Given the description of an element on the screen output the (x, y) to click on. 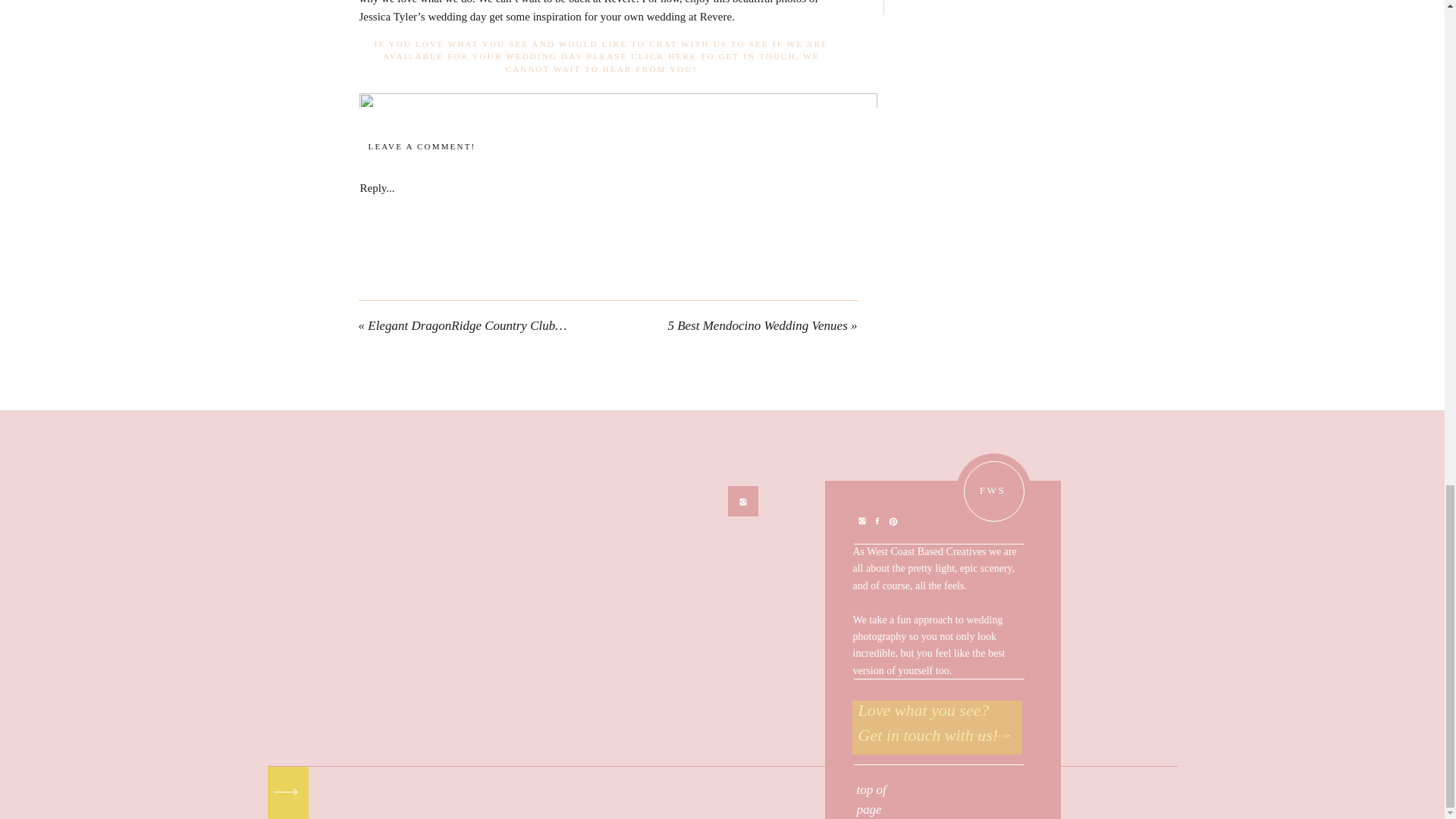
Elegant DragonRidge Country Club Wedding (485, 325)
5 Best Mendocino Wedding Venues (756, 325)
LEAVE A COMMENT! (421, 146)
top of  page (886, 789)
